Given the description of an element on the screen output the (x, y) to click on. 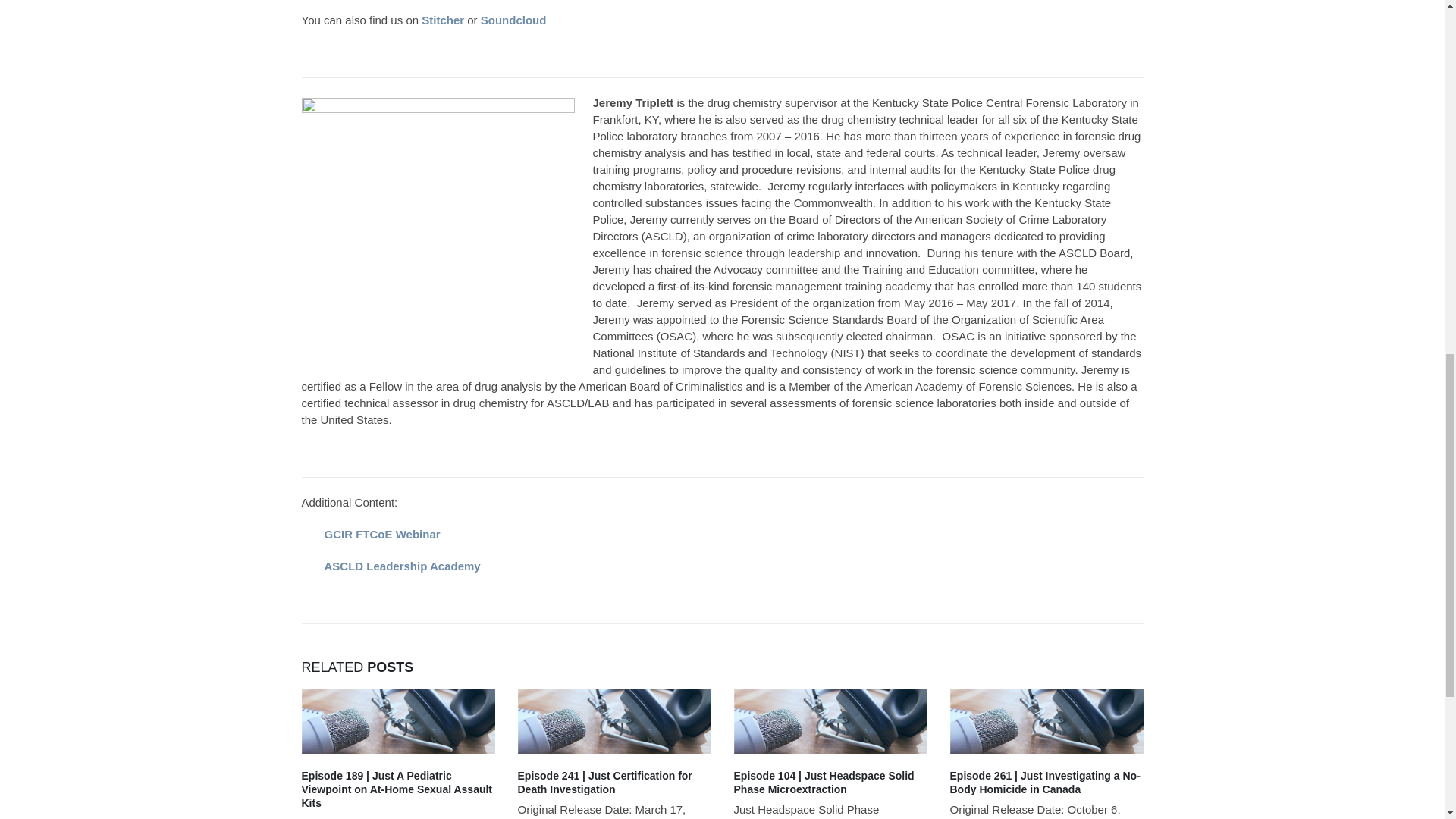
Stitcher (443, 19)
Soundcloud  (515, 19)
